Given the description of an element on the screen output the (x, y) to click on. 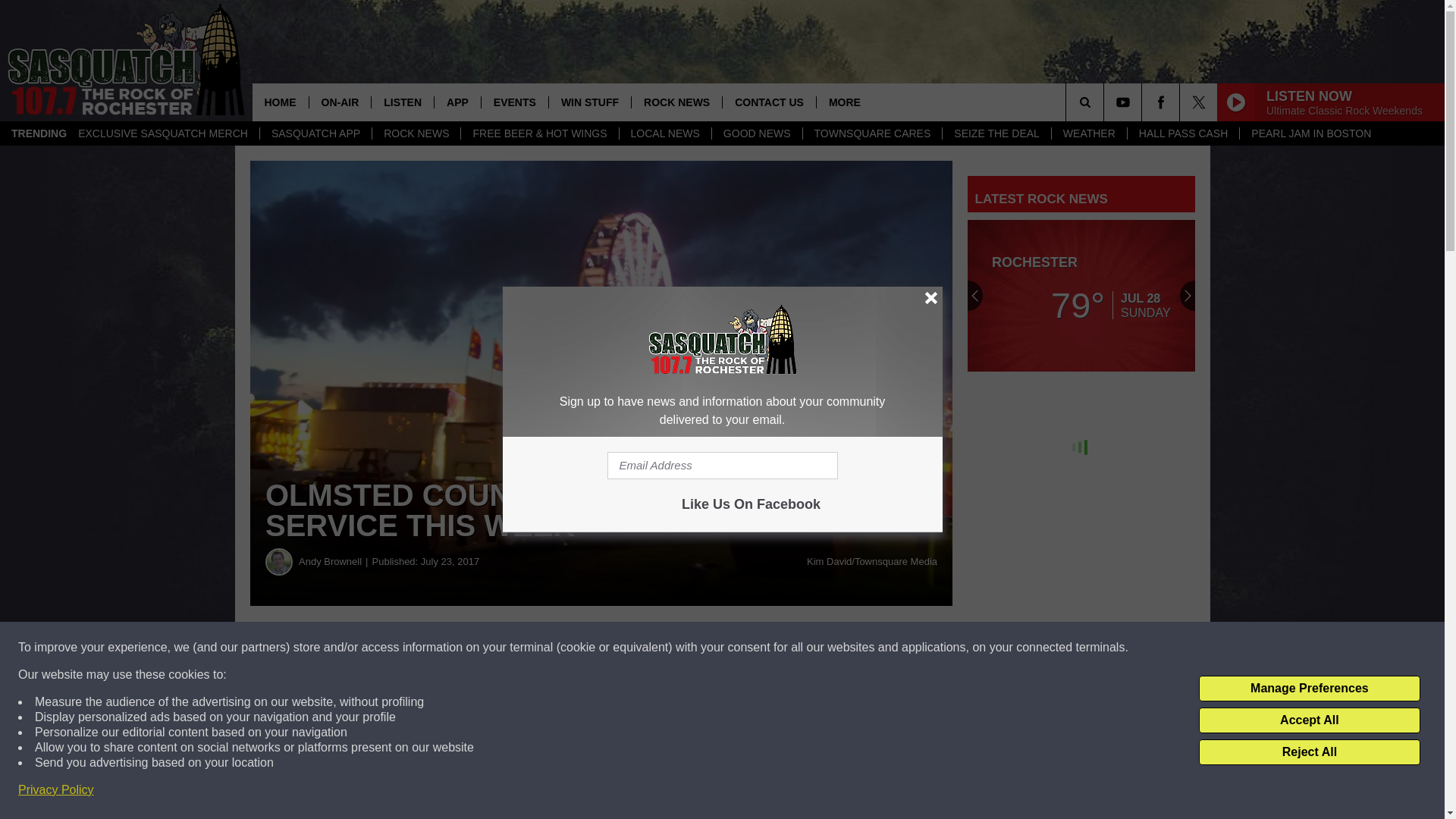
Accept All (1309, 720)
APP (456, 102)
Rochester Weather (1081, 295)
ROCK NEWS (415, 133)
Share on Twitter (741, 647)
LISTEN (402, 102)
WEATHER (1088, 133)
HALL PASS CASH (1183, 133)
PEARL JAM IN BOSTON (1310, 133)
Email Address (722, 465)
ON-AIR (339, 102)
SEARCH (1106, 102)
HOME (279, 102)
Manage Preferences (1309, 688)
SEIZE THE DEAL (996, 133)
